Given the description of an element on the screen output the (x, y) to click on. 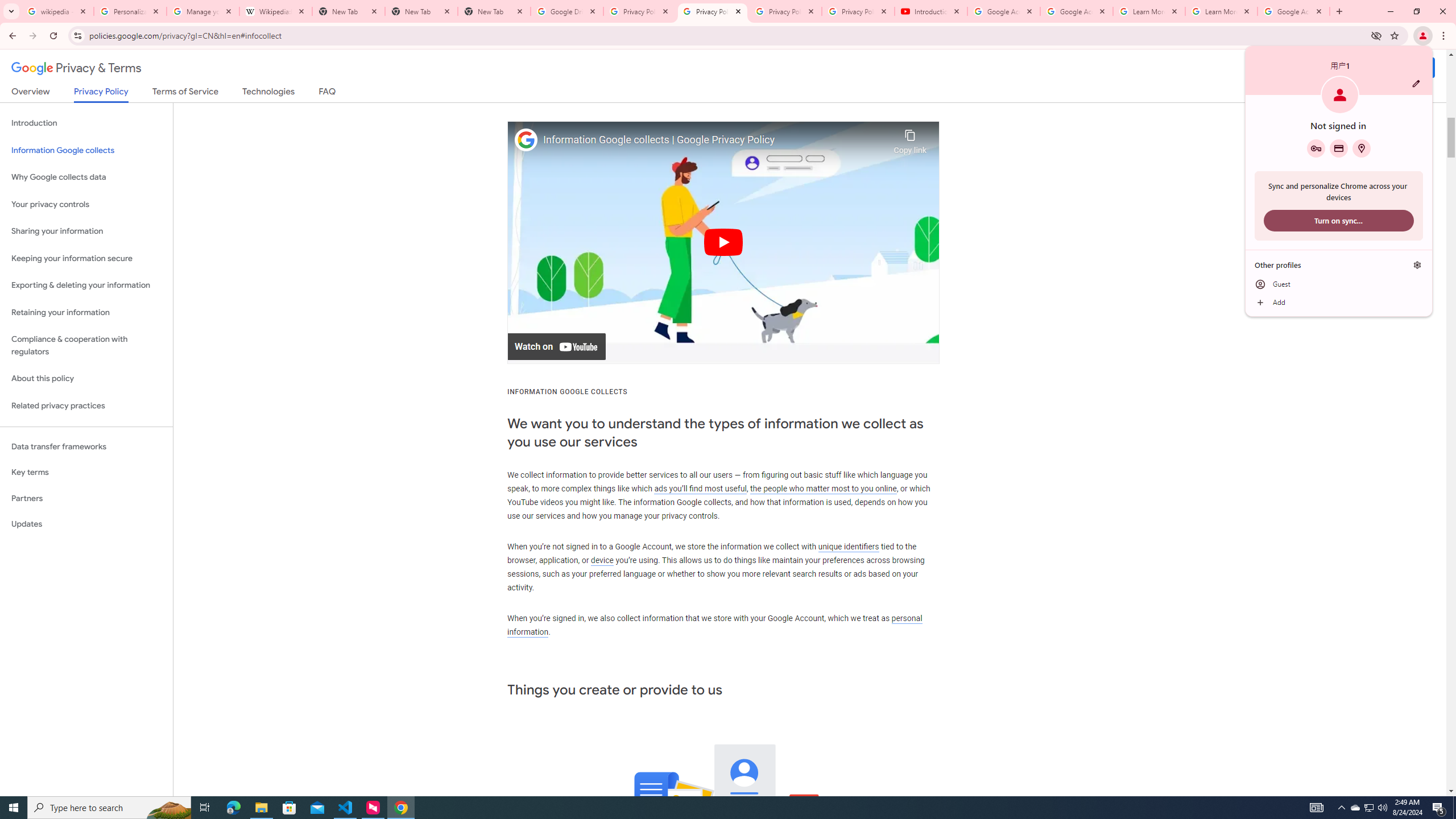
New Tab (421, 11)
Payment methods (1338, 148)
Manage your Location History - Google Search Help (202, 11)
Photo image of Google (526, 139)
Google Drive: Sign-in (566, 11)
Data transfer frameworks (86, 446)
About this policy (86, 379)
File Explorer - 1 running window (261, 807)
unique identifiers (848, 546)
Introduction (86, 122)
